Given the description of an element on the screen output the (x, y) to click on. 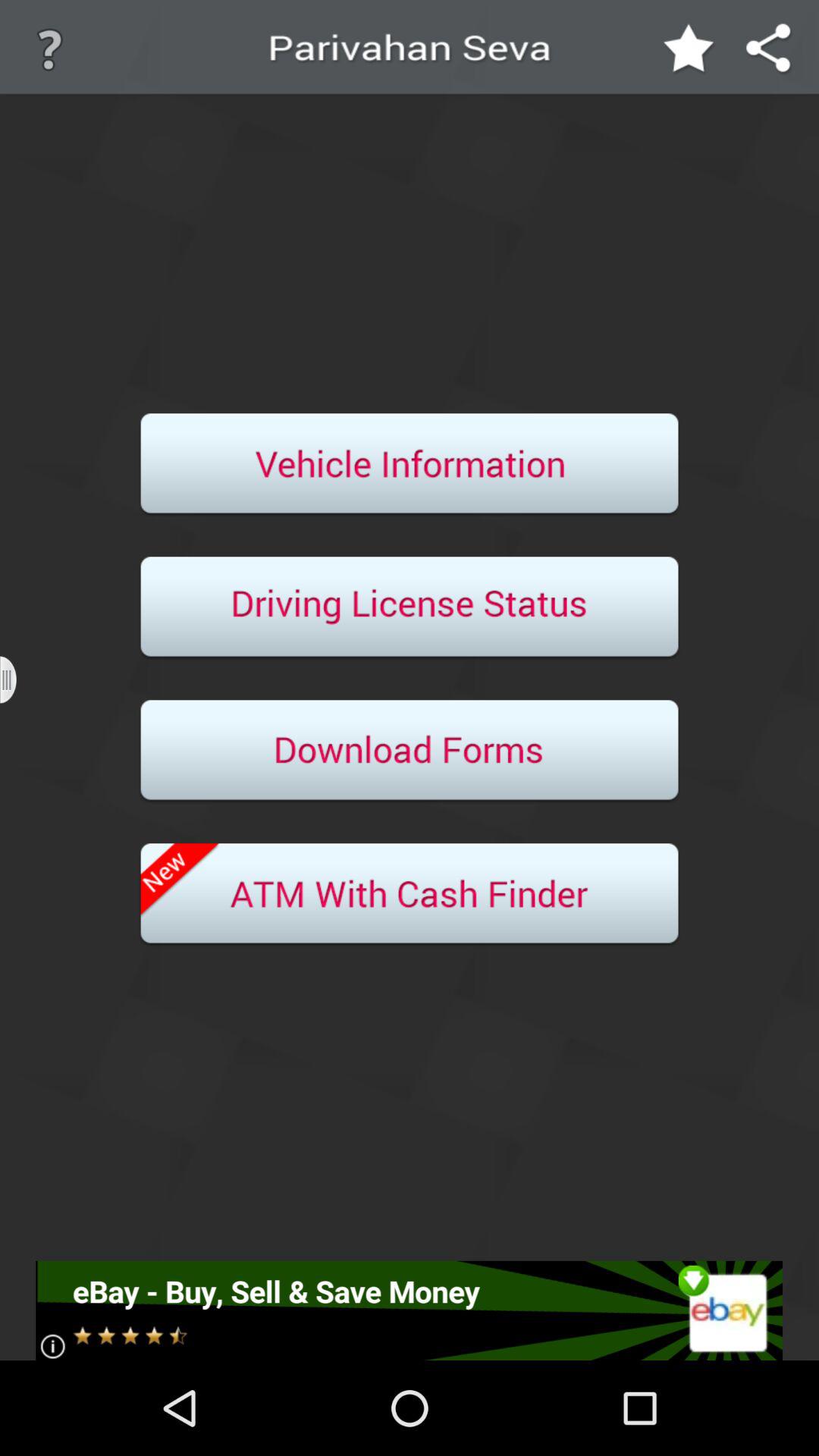
click for advertisement (408, 1310)
